Given the description of an element on the screen output the (x, y) to click on. 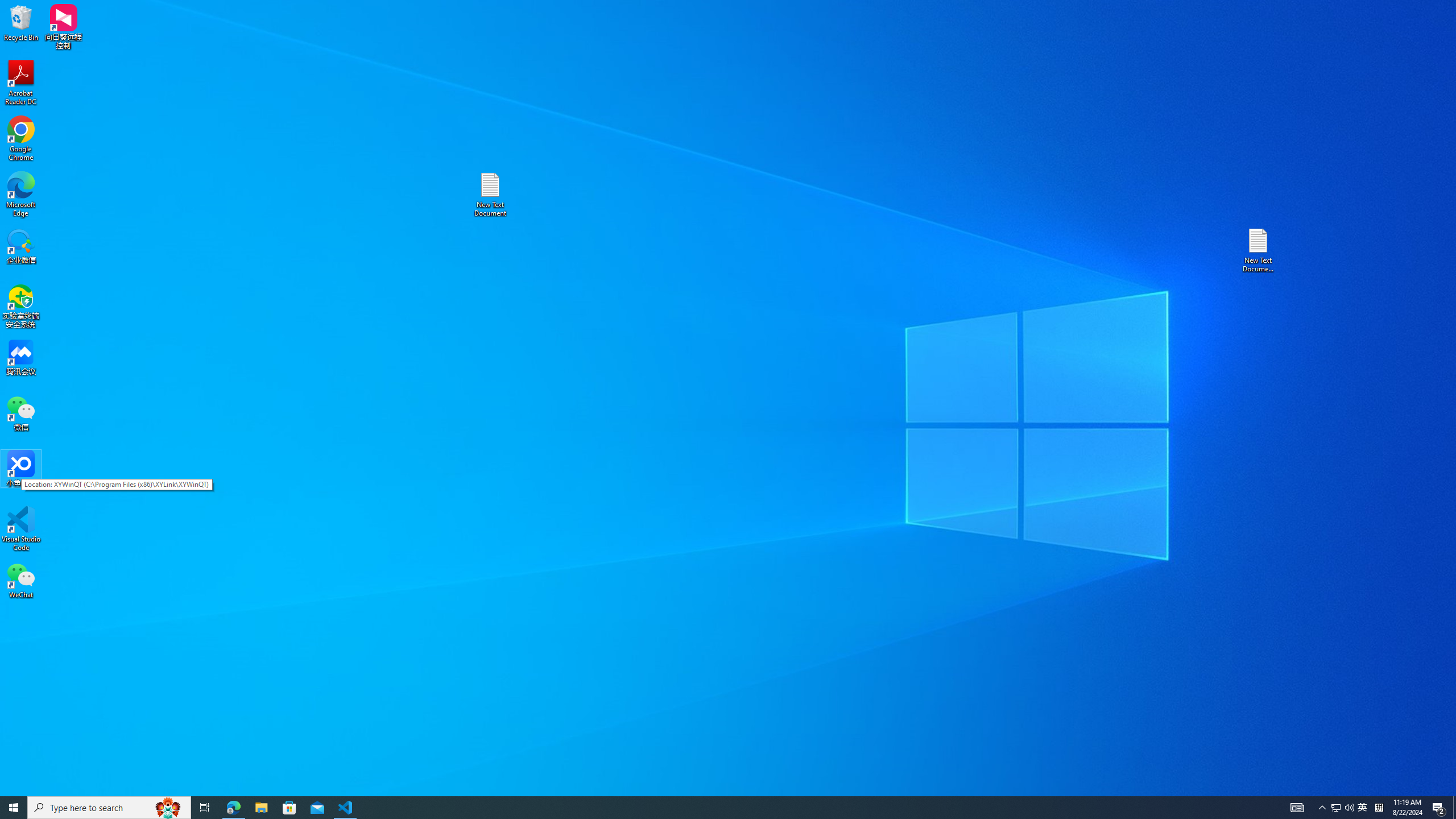
WeChat (21, 580)
Visual Studio Code - 1 running window (345, 807)
Google Chrome (21, 138)
Start (13, 807)
AutomationID: 4105 (1297, 807)
User Promoted Notification Area (1342, 807)
Visual Studio Code (21, 528)
Notification Chevron (1322, 807)
